Given the description of an element on the screen output the (x, y) to click on. 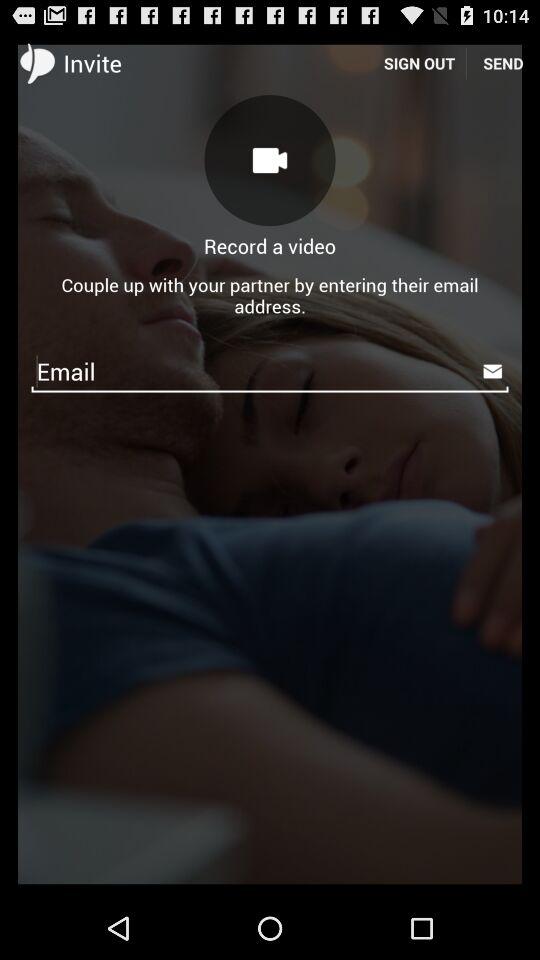
click icon above record a video item (269, 159)
